Given the description of an element on the screen output the (x, y) to click on. 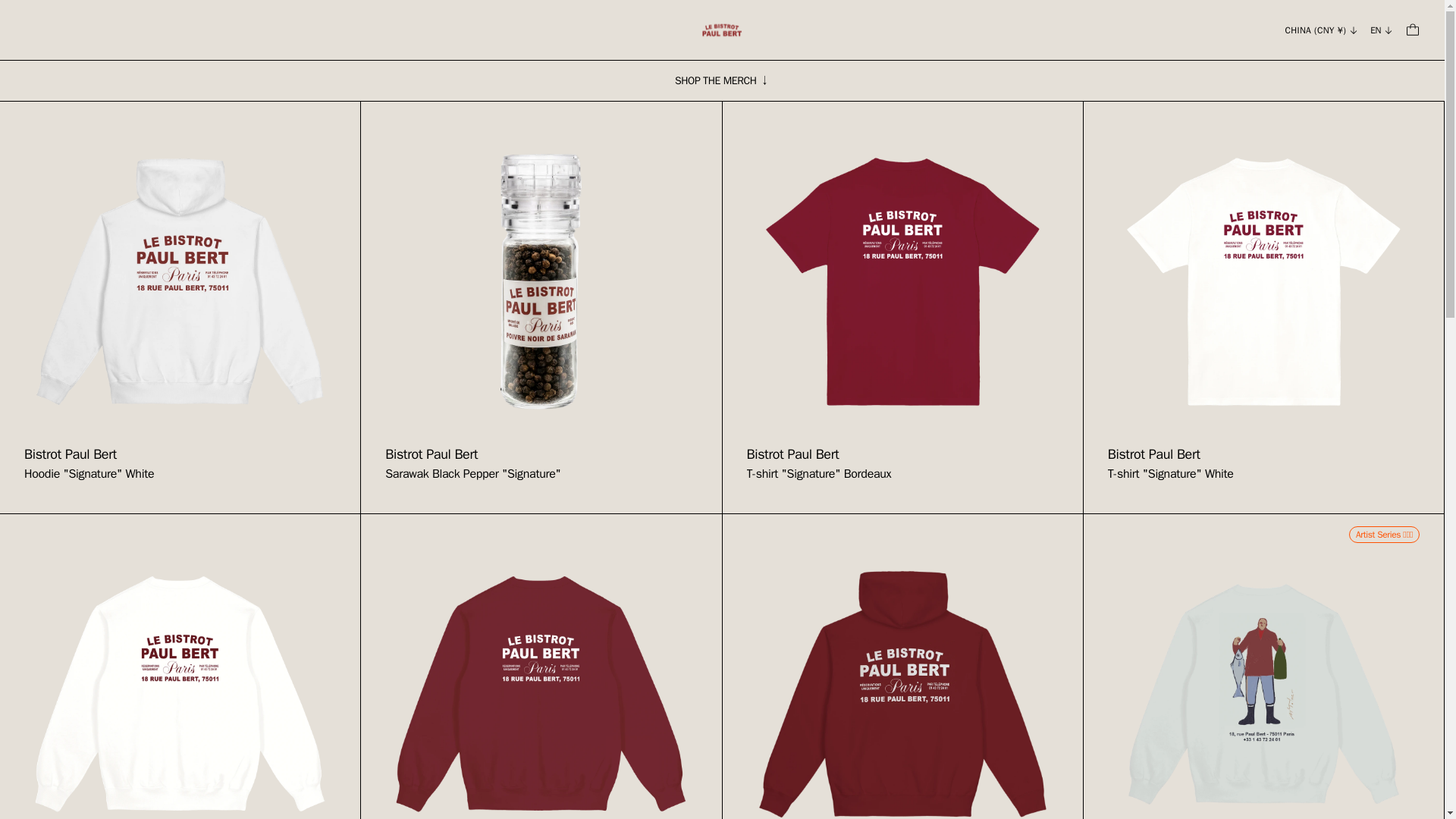
EN (901, 666)
